Given the description of an element on the screen output the (x, y) to click on. 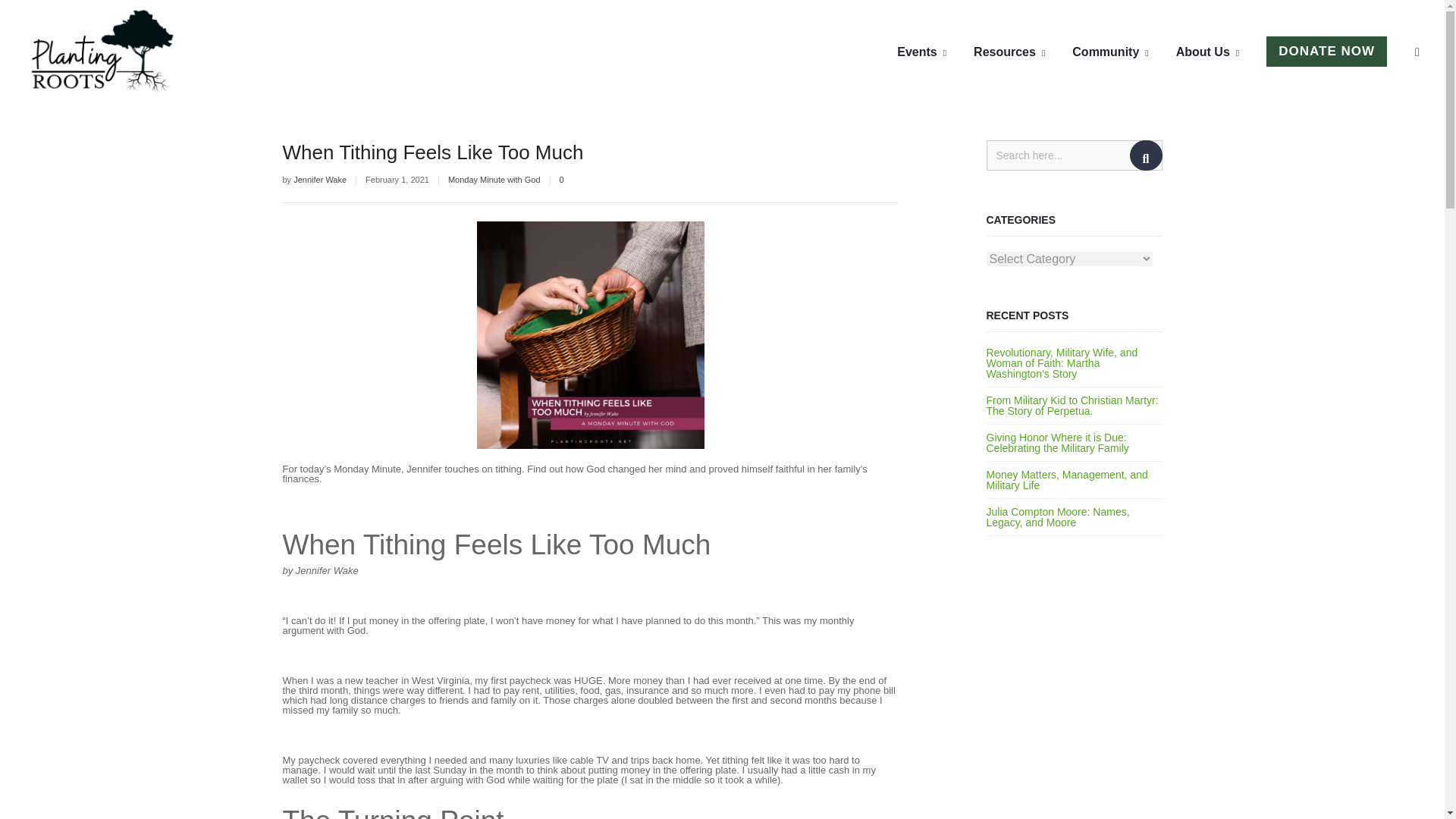
Community (1109, 51)
Search here... (1073, 155)
Posts by Jennifer Wake (320, 179)
Events (921, 51)
Resources (1008, 51)
View all posts in Monday Minute with God (494, 179)
Search here... (1073, 155)
About Us (1207, 51)
